Given the description of an element on the screen output the (x, y) to click on. 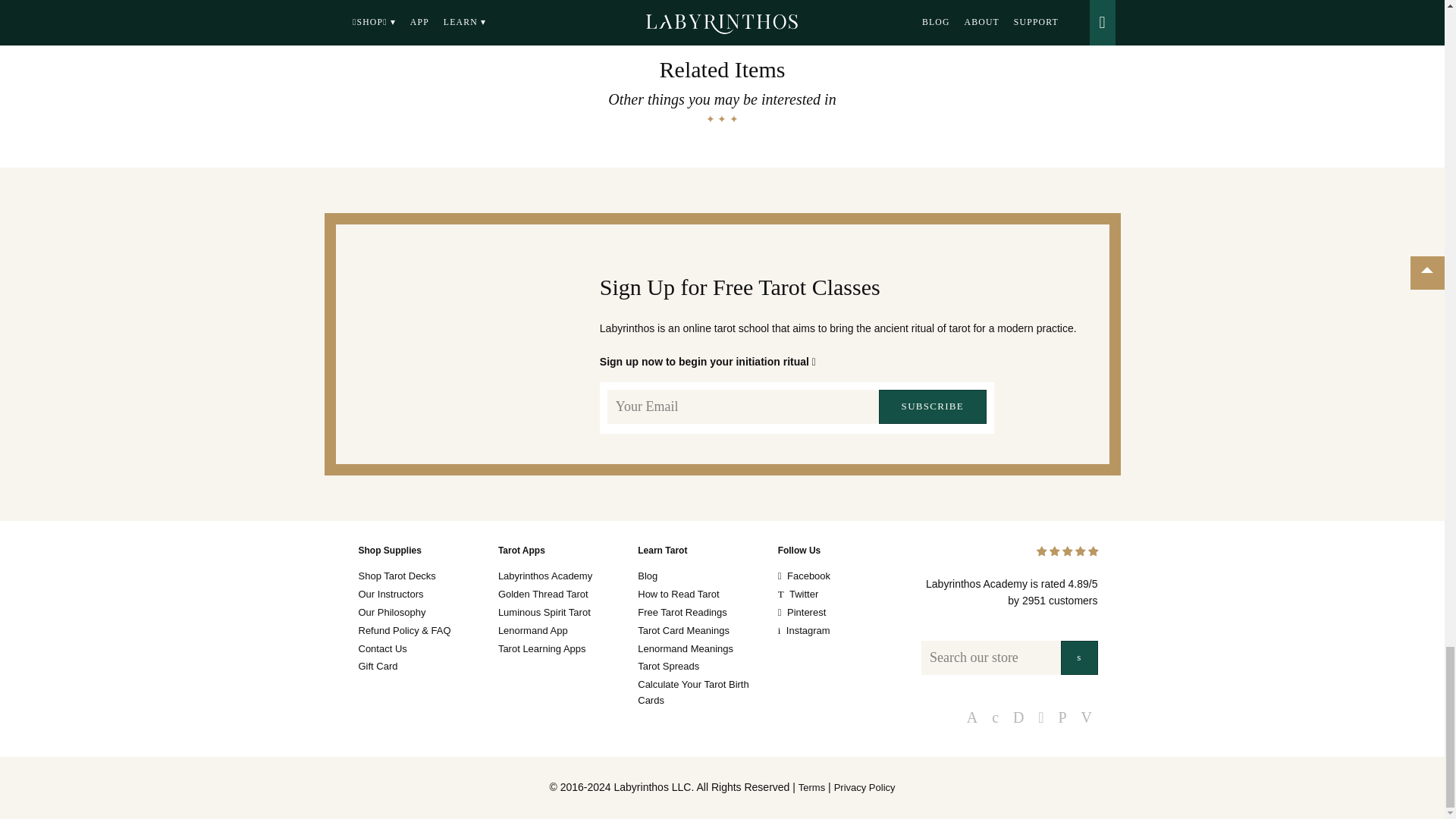
Labyrinthos on Twitter (843, 594)
Labyrinthos on Facebook (843, 575)
Labyrinthos on Instagram (843, 630)
Labyrinthos on Pinterest (843, 612)
